Given the description of an element on the screen output the (x, y) to click on. 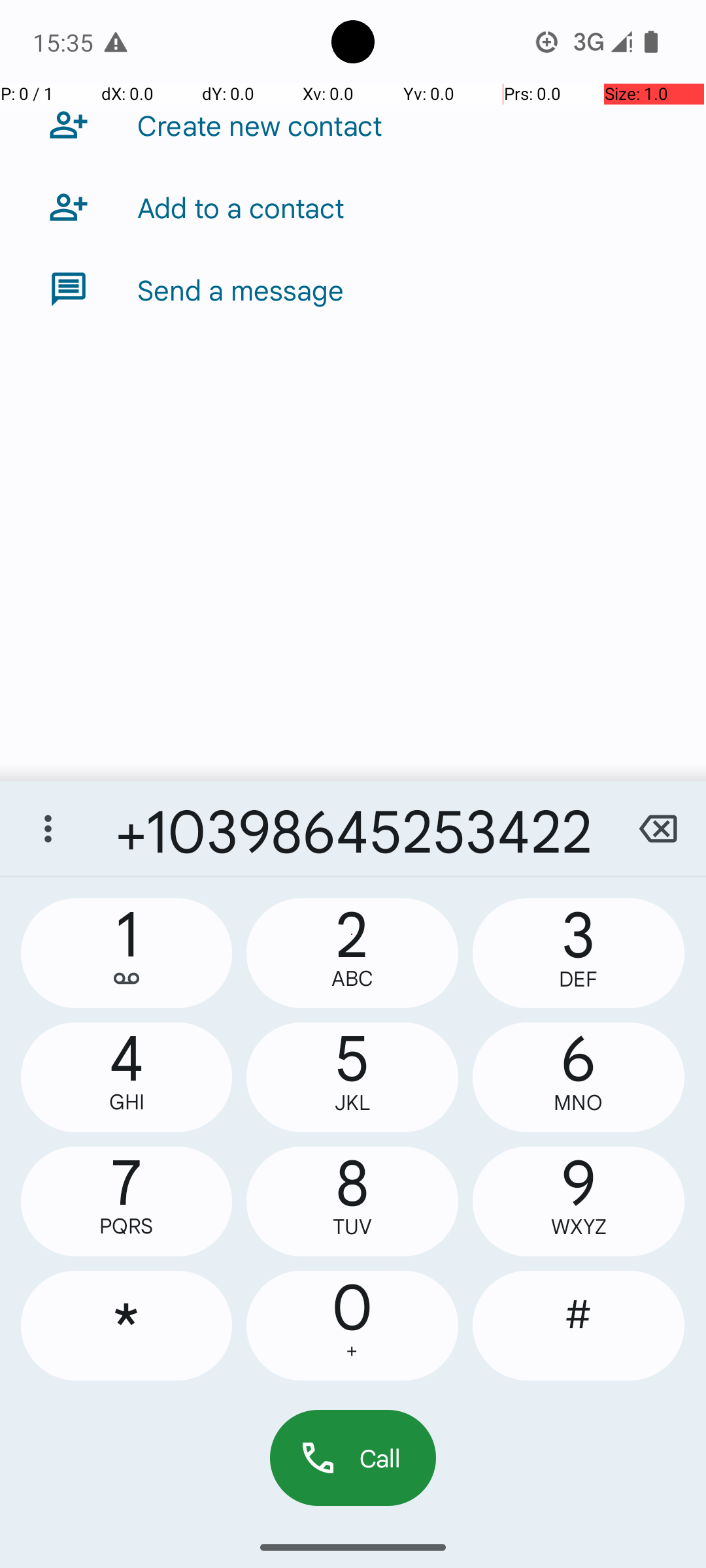
Call Element type: android.widget.Button (352, 1457)
+10398645253422 Element type: android.widget.EditText (352, 828)
backspace Element type: android.widget.ImageButton (657, 828)
1, Element type: android.widget.FrameLayout (126, 953)
2,ABC Element type: android.widget.FrameLayout (352, 953)
3,DEF Element type: android.widget.FrameLayout (578, 953)
4,GHI Element type: android.widget.FrameLayout (126, 1077)
5,JKL Element type: android.widget.FrameLayout (352, 1077)
6,MNO Element type: android.widget.FrameLayout (578, 1077)
7,PQRS Element type: android.widget.FrameLayout (126, 1201)
8,TUV Element type: android.widget.FrameLayout (352, 1201)
9,WXYZ Element type: android.widget.FrameLayout (578, 1201)
* Element type: android.widget.FrameLayout (126, 1325)
# Element type: android.widget.FrameLayout (578, 1325)
ABC Element type: android.widget.TextView (351, 978)
DEF Element type: android.widget.TextView (578, 978)
GHI Element type: android.widget.TextView (126, 1101)
JKL Element type: android.widget.TextView (351, 1102)
MNO Element type: android.widget.TextView (578, 1102)
PQRS Element type: android.widget.TextView (126, 1225)
TUV Element type: android.widget.TextView (351, 1226)
WXYZ Element type: android.widget.TextView (578, 1226)
+ Element type: android.widget.TextView (351, 1351)
Create new contact Element type: android.widget.TextView (260, 124)
Add to a contact Element type: android.widget.TextView (240, 206)
Send a message Element type: android.widget.TextView (240, 289)
